Given the description of an element on the screen output the (x, y) to click on. 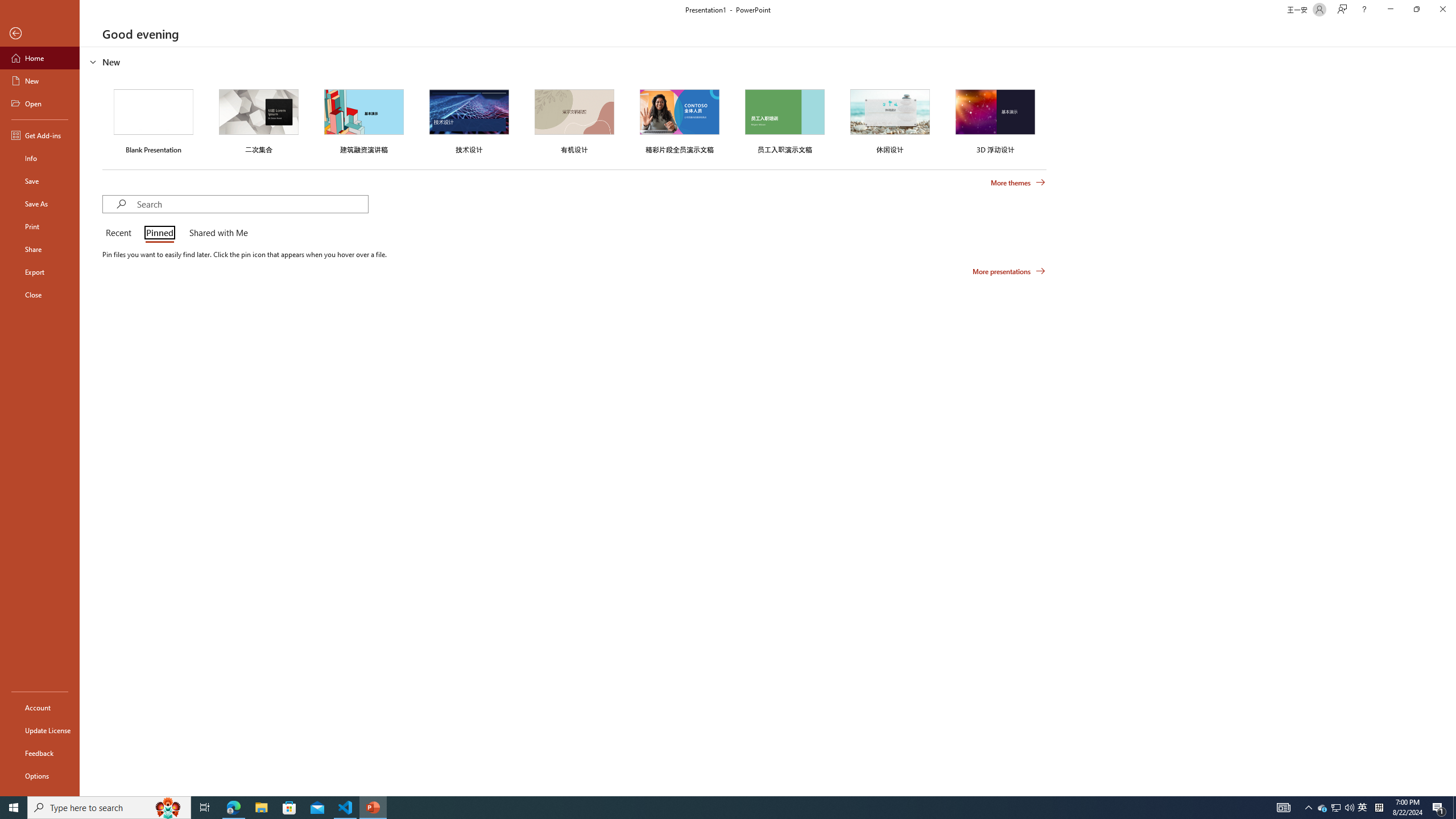
Shared with Me (215, 233)
Back (40, 33)
More presentations (1008, 270)
Feedback (40, 753)
Hide or show region (92, 61)
Blank Presentation (153, 119)
Save As (40, 203)
Pinned (159, 233)
Info (40, 157)
